Given the description of an element on the screen output the (x, y) to click on. 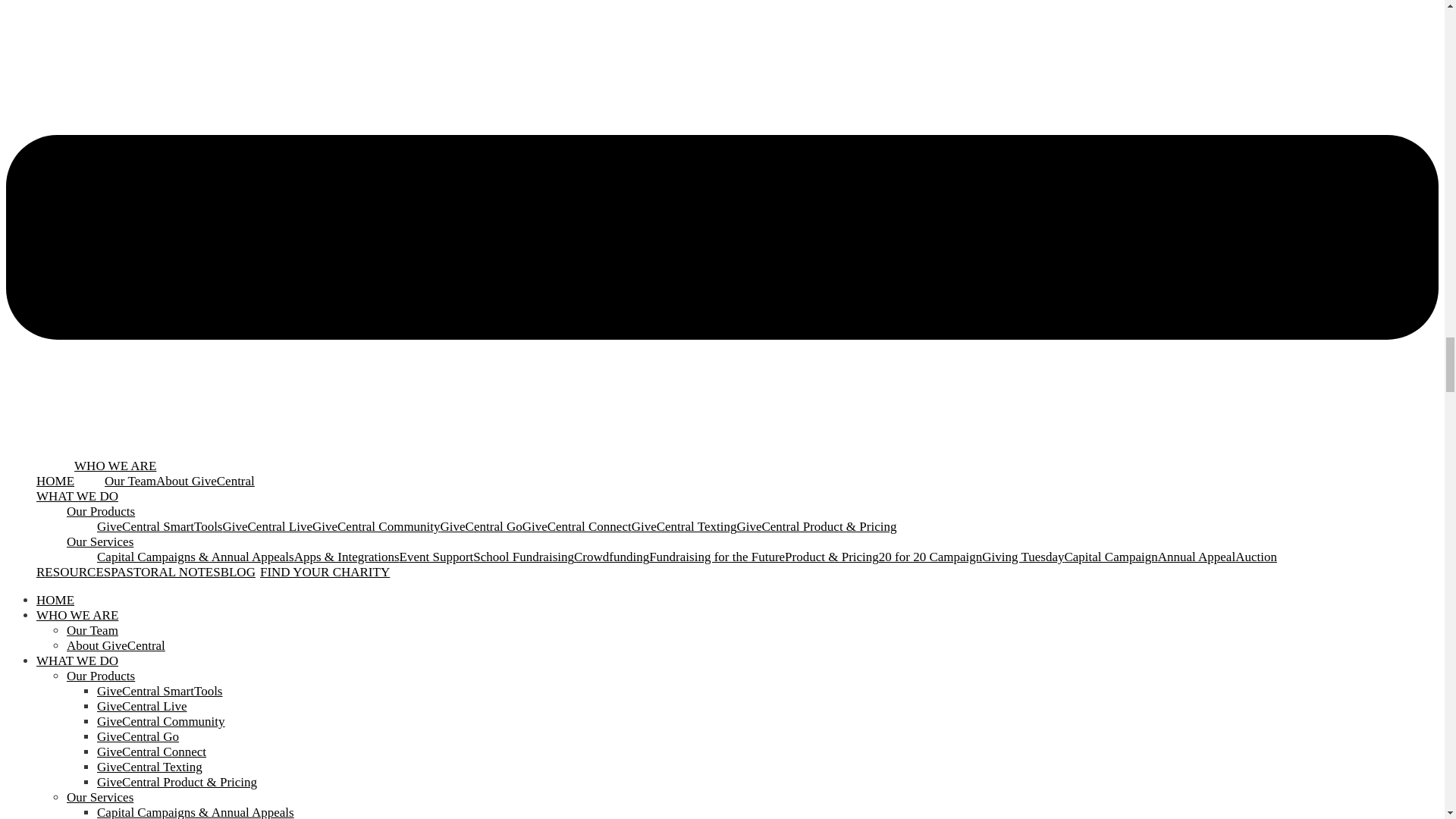
School Fundraising (523, 556)
Auction (1255, 556)
20 for 20 Campaign (930, 556)
Fundraising for the Future (716, 556)
FIND YOUR CHARITY (325, 572)
HOME (55, 481)
GiveCentral Connect (576, 526)
RESOURCES (73, 572)
Event Support (436, 556)
Our Team (91, 630)
